Given the description of an element on the screen output the (x, y) to click on. 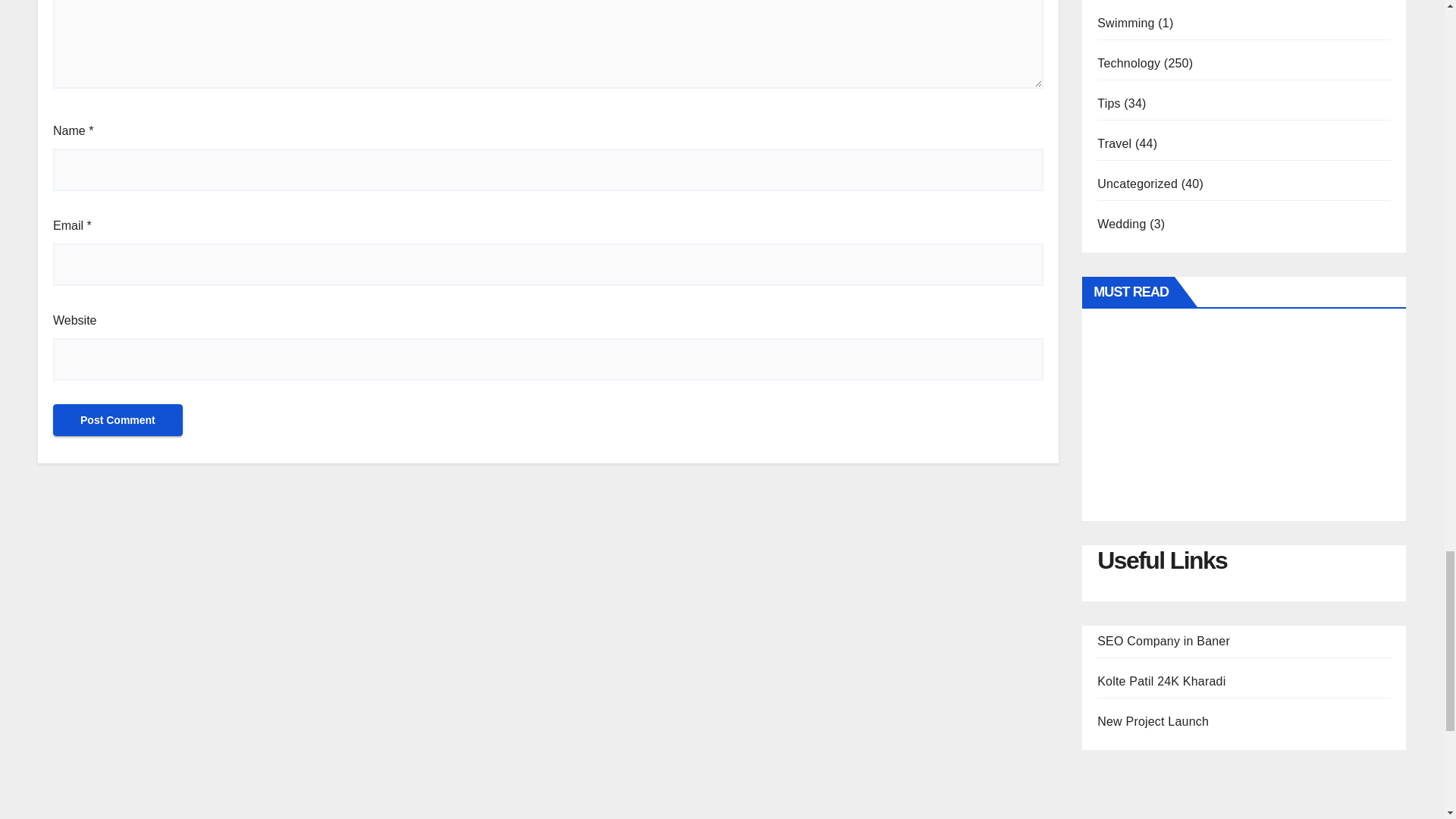
Post Comment (117, 419)
